Given the description of an element on the screen output the (x, y) to click on. 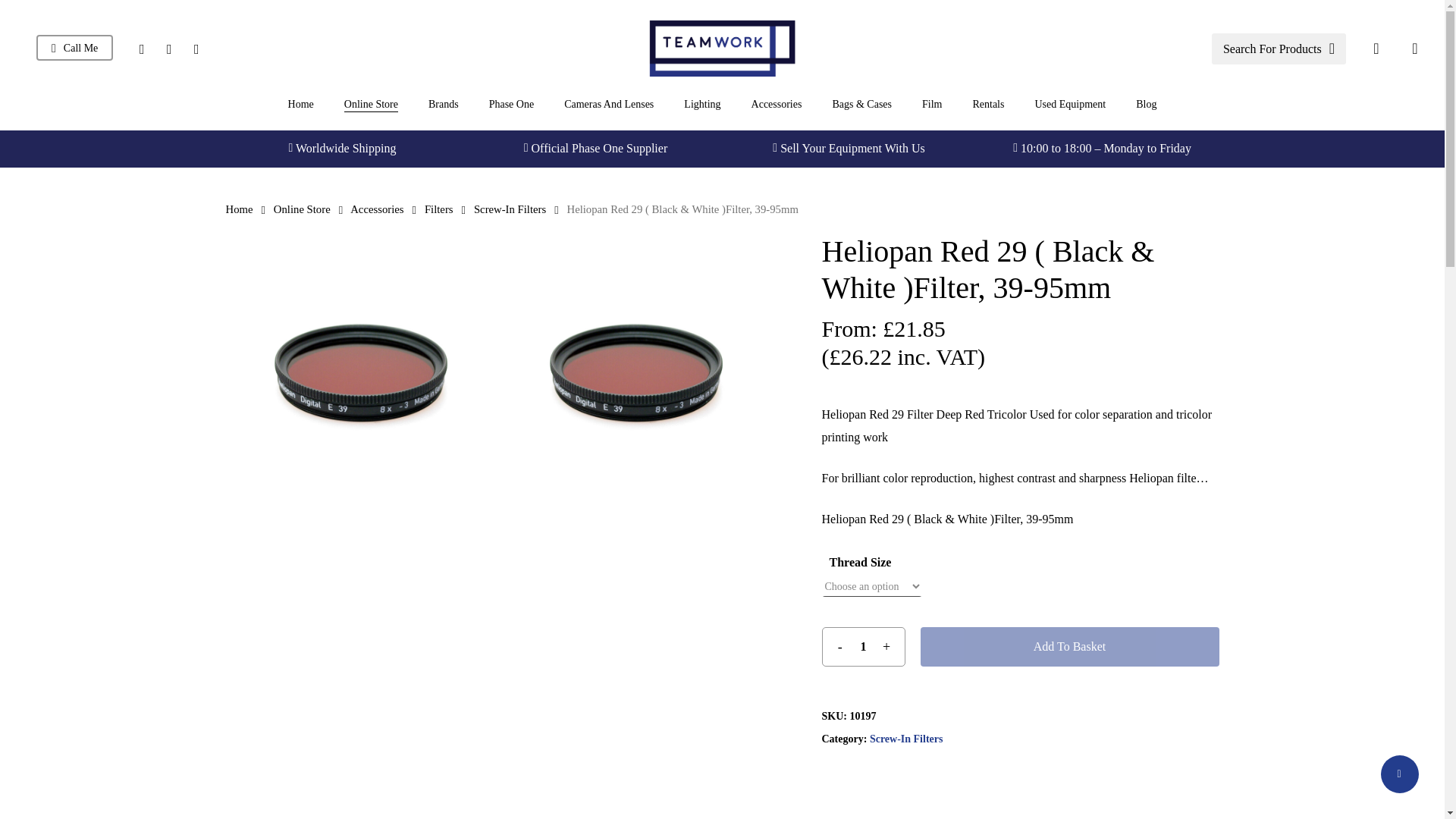
Home (301, 104)
account (1376, 48)
Email (196, 48)
Call Me (74, 48)
Brands (443, 104)
search (1278, 48)
Instagram (141, 48)
Online Store (370, 104)
Phone (169, 48)
heliopan-39mm-red-29-2.jpg (360, 370)
